Given the description of an element on the screen output the (x, y) to click on. 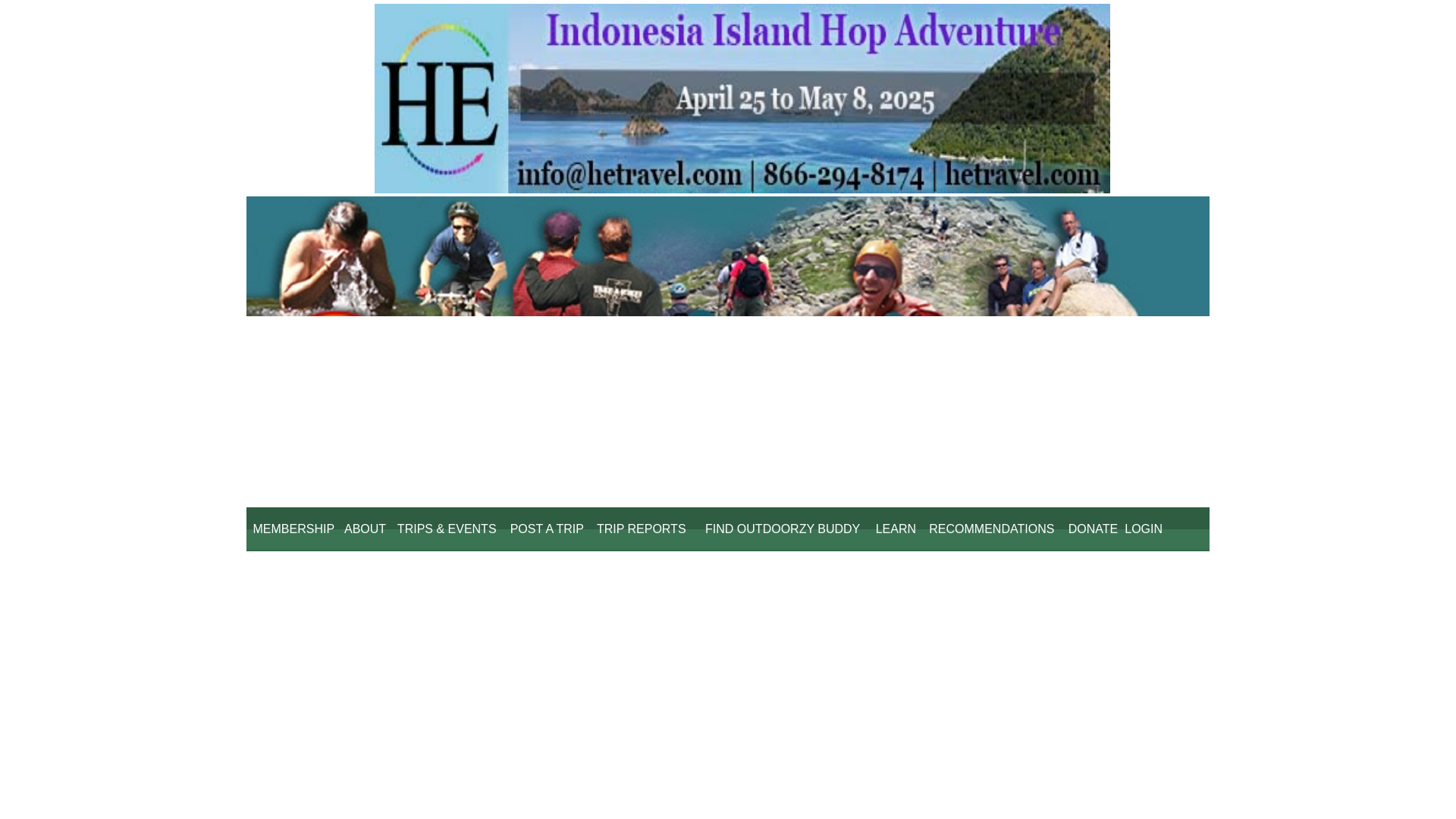
MEMBERSHIP (293, 528)
FIND OUTDOORZY BUDDY (782, 528)
LEARN (895, 528)
ABOUT (365, 528)
POST A TRIP (546, 528)
TRIP REPORTS (641, 528)
